Given the description of an element on the screen output the (x, y) to click on. 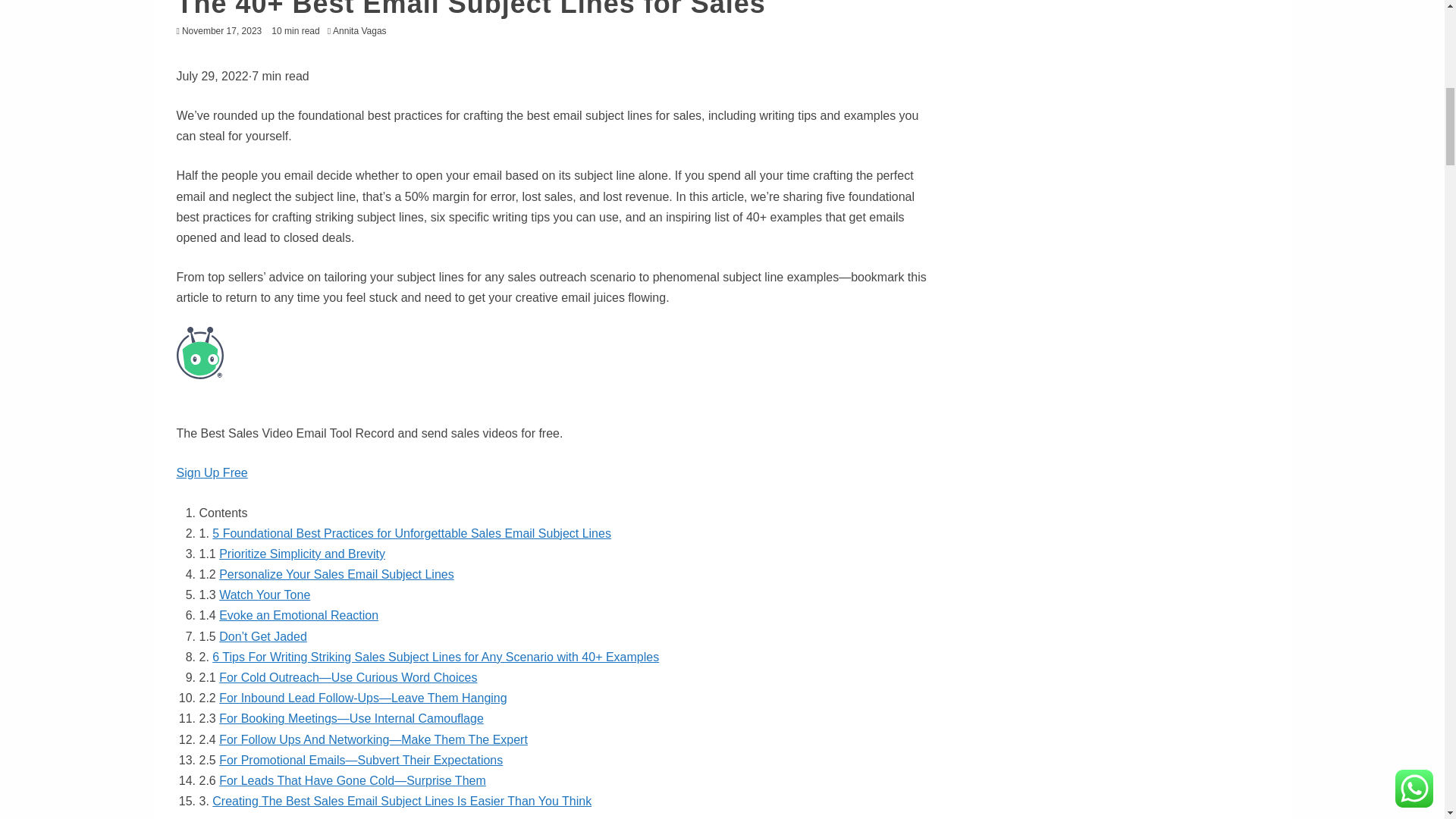
November 17, 2023 (222, 30)
Annita Vagas (363, 30)
Watch Your Tone (264, 594)
Sign Up Free (211, 472)
Evoke an Emotional Reaction (298, 615)
Prioritize Simplicity and Brevity (302, 553)
Personalize Your Sales Email Subject Lines (336, 574)
